Given the description of an element on the screen output the (x, y) to click on. 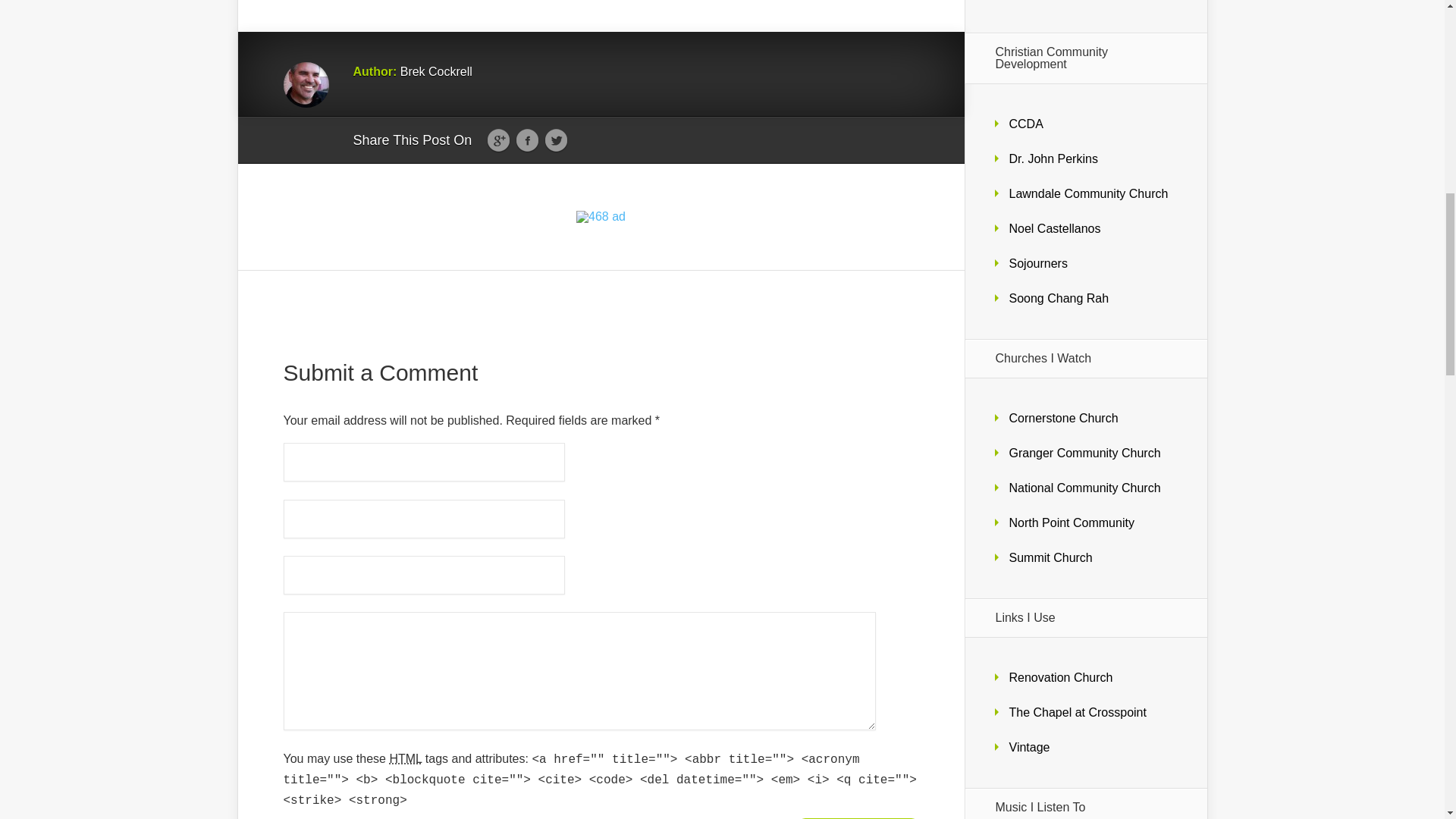
HyperText Markup Language (405, 758)
Facebook (526, 140)
Twitter (555, 140)
Lawndale Community Church (1088, 193)
Google (498, 140)
CCDA (1025, 123)
Noel Castellanos (1054, 228)
Dr. John Perkins (1053, 158)
